Given the description of an element on the screen output the (x, y) to click on. 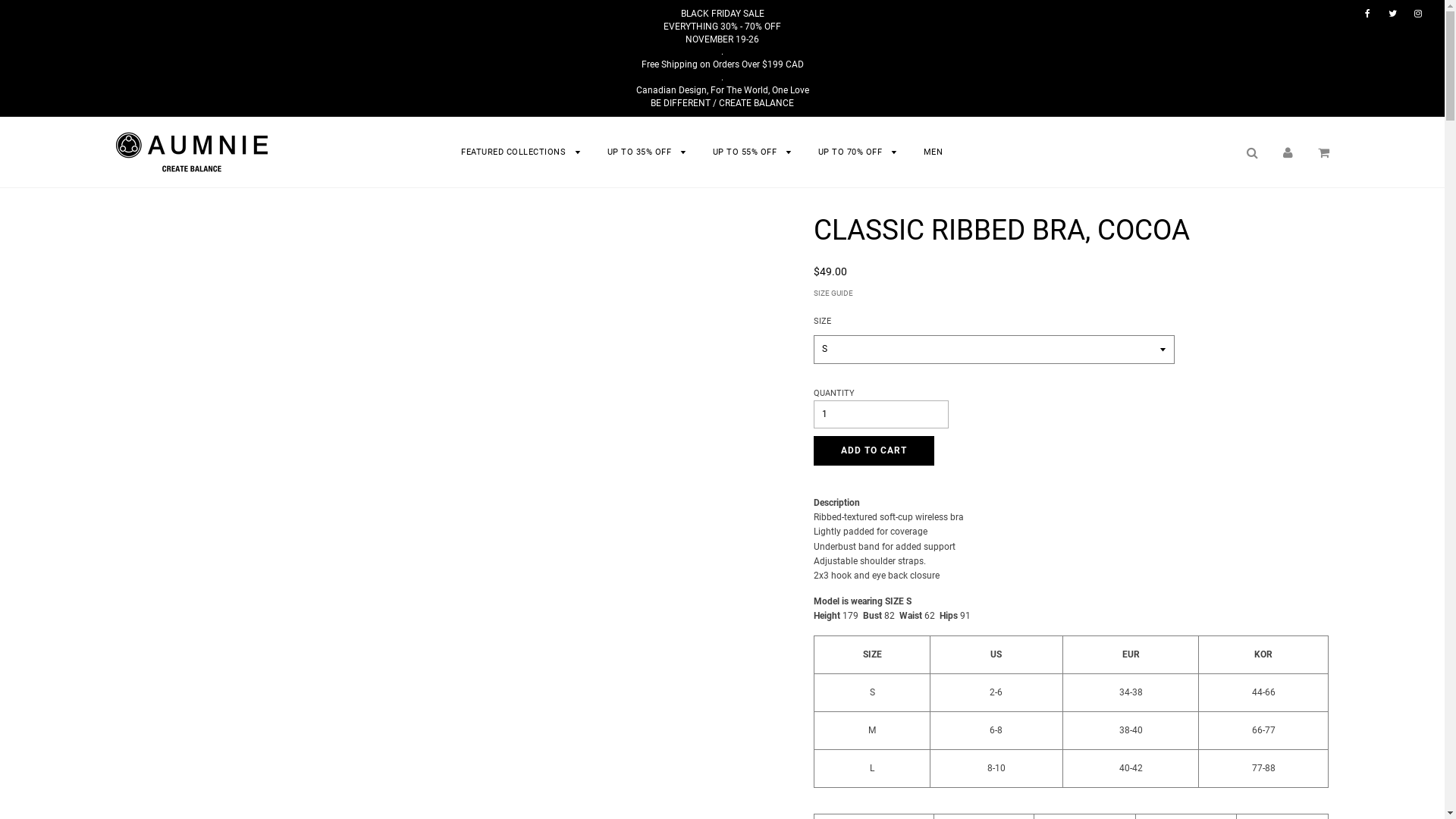
SIZE GUIDE Element type: text (1070, 293)
UP TO 35% OFF Element type: text (647, 151)
FEATURED COLLECTIONS Element type: text (521, 151)
UP TO 55% OFF Element type: text (751, 151)
ADD TO CART Element type: text (873, 450)
MEN Element type: text (926, 151)
UP TO 70% OFF Element type: text (858, 151)
Log in Element type: hover (1287, 152)
